Given the description of an element on the screen output the (x, y) to click on. 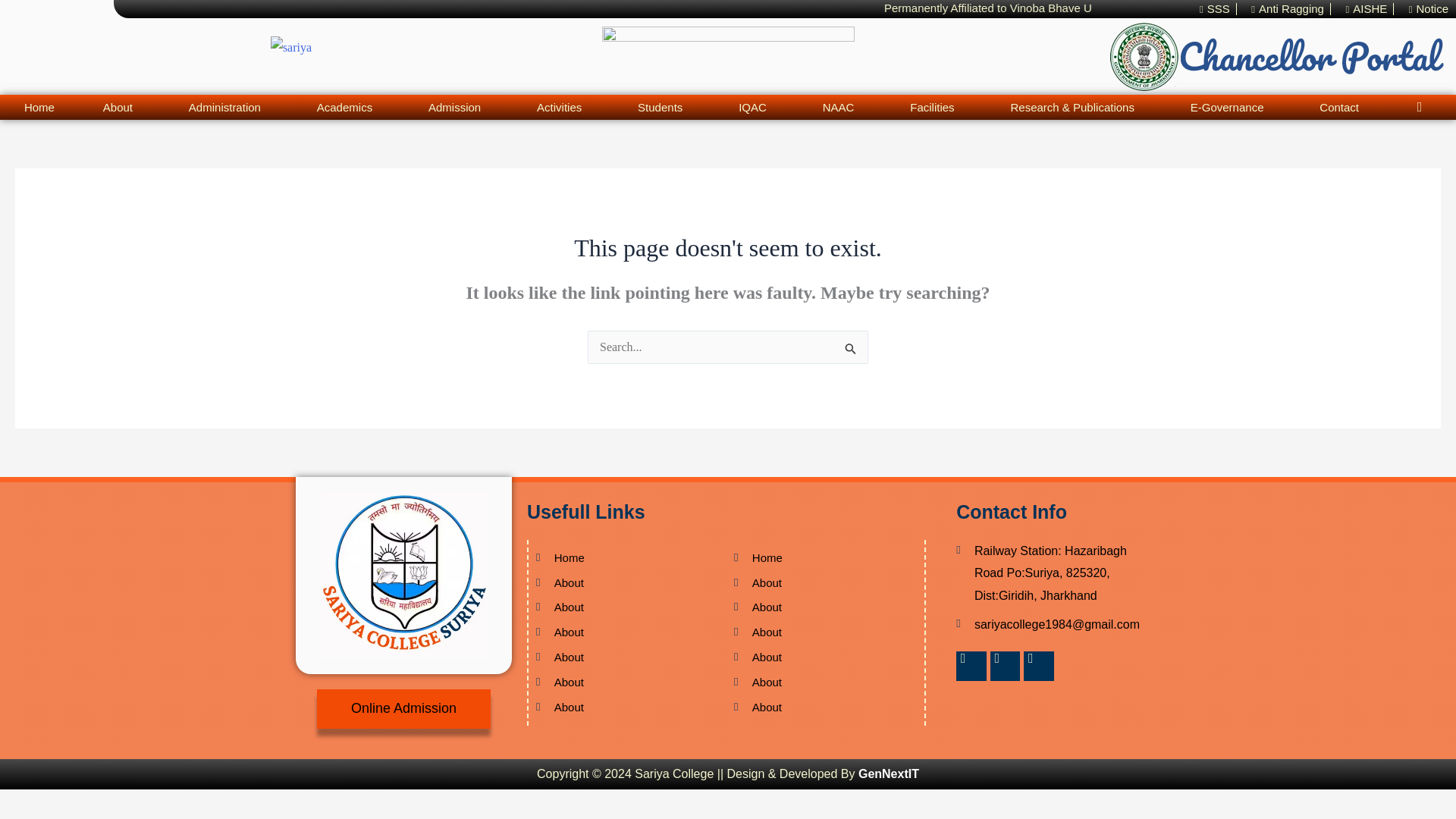
Academics (348, 106)
About (121, 106)
Administration (228, 106)
Home (39, 106)
